Given the description of an element on the screen output the (x, y) to click on. 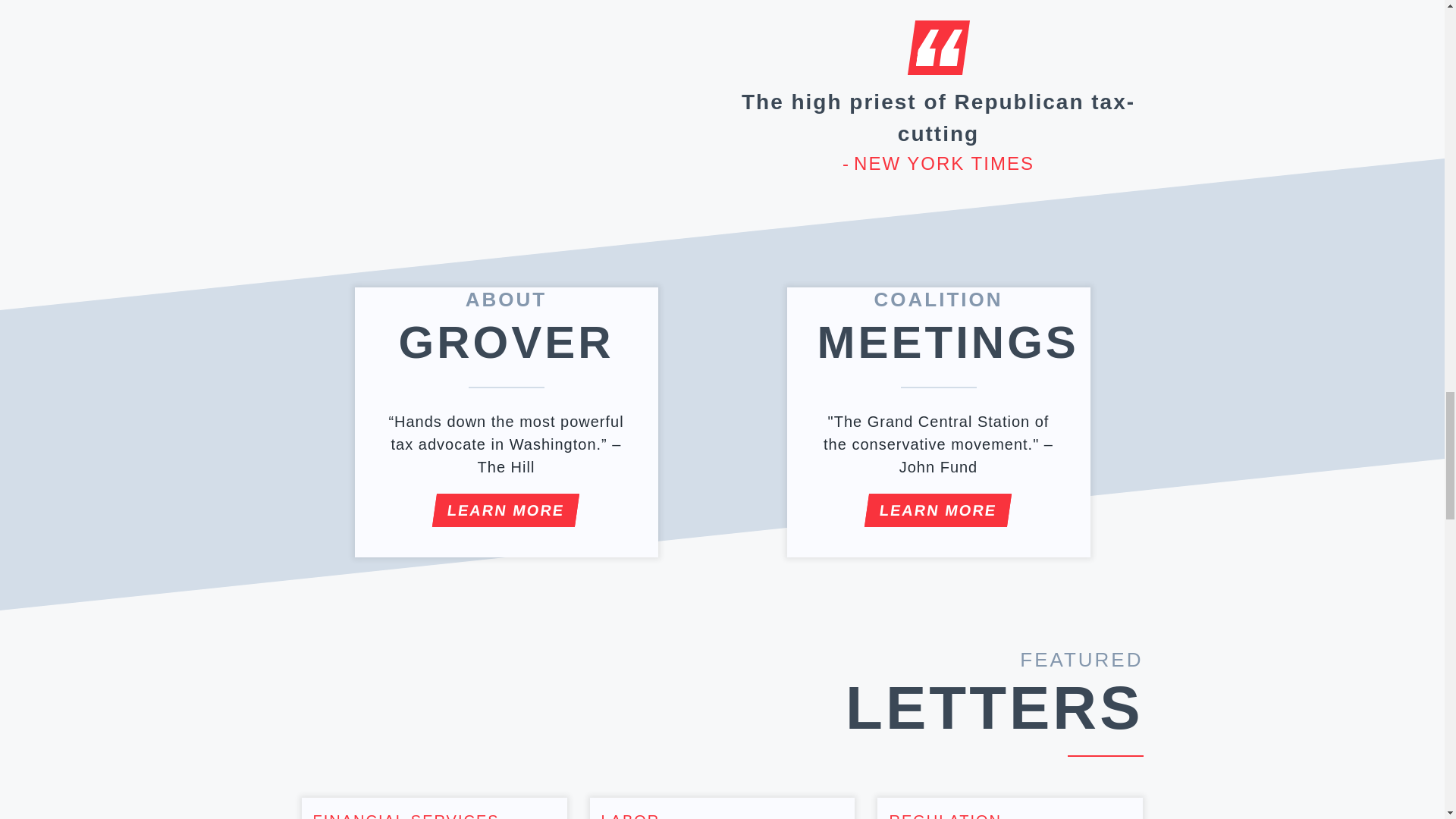
LEARN MORE (935, 510)
LEARN MORE (503, 510)
